Given the description of an element on the screen output the (x, y) to click on. 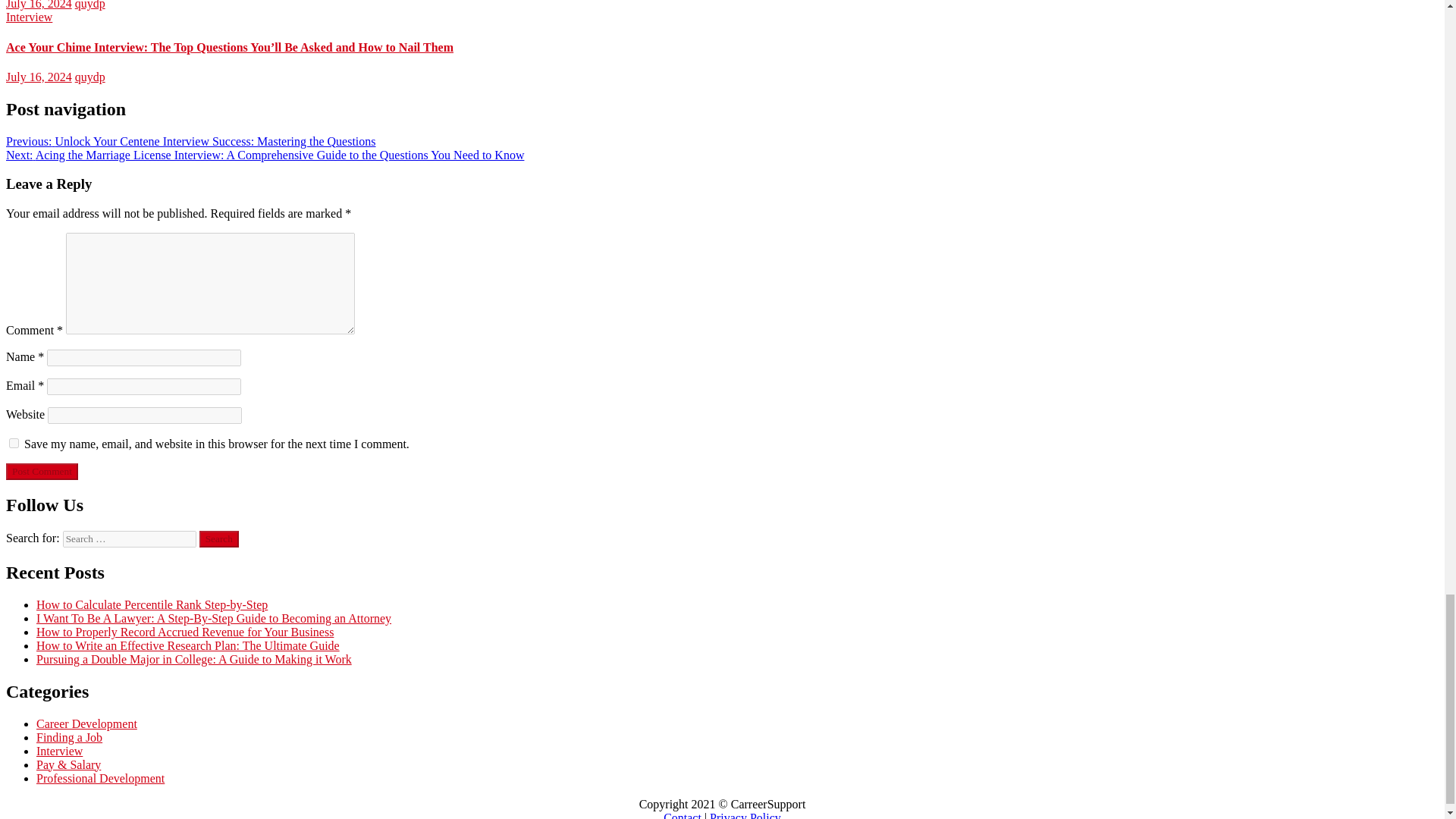
Search (218, 538)
Post Comment (41, 471)
quydp (89, 76)
July 16, 2024 (38, 4)
yes (13, 442)
quydp (89, 4)
Search (218, 538)
July 16, 2024 (38, 76)
